Given the description of an element on the screen output the (x, y) to click on. 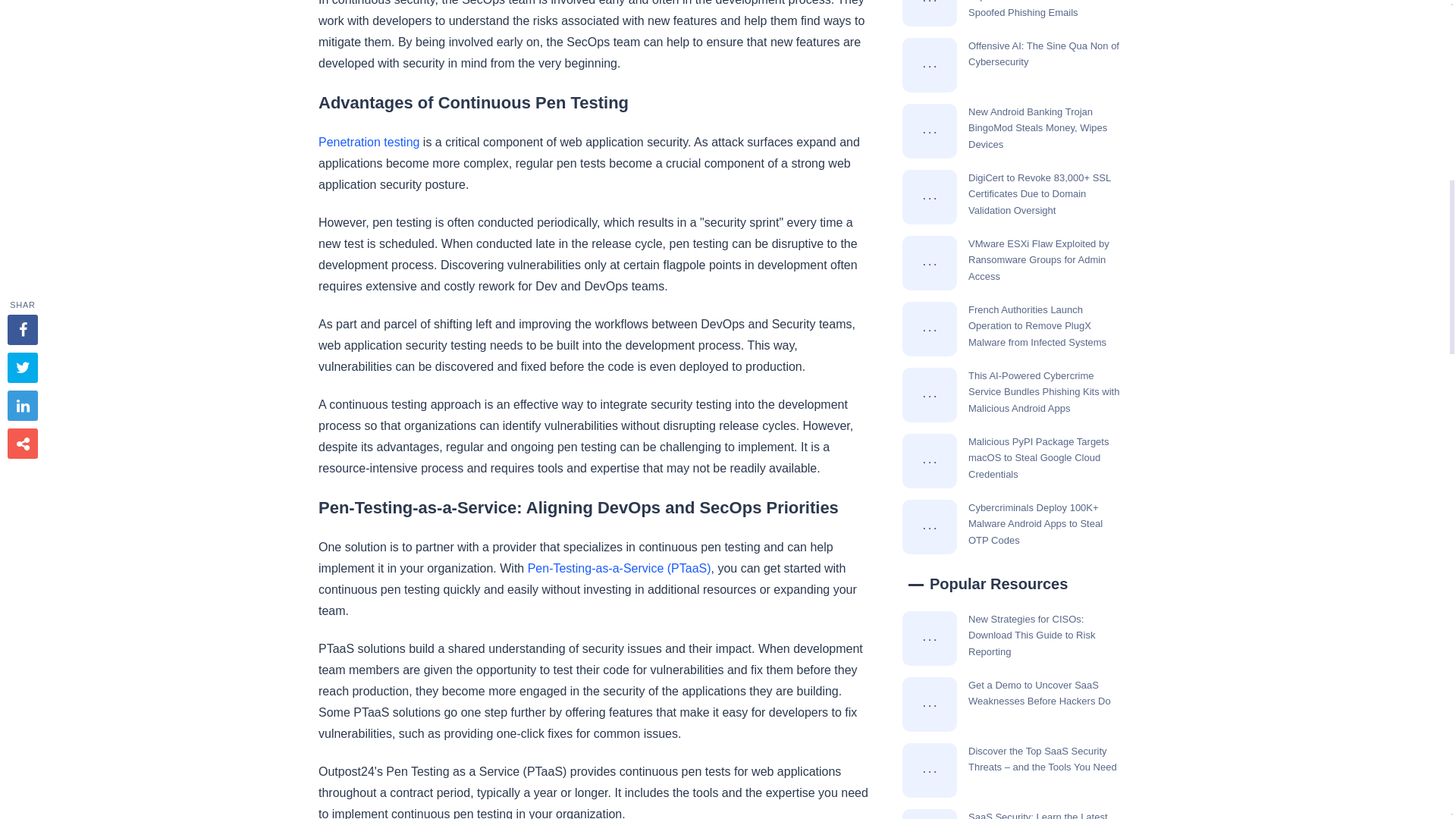
Offensive AI: The Sine Qua Non of Cybersecurity (929, 64)
